Given the description of an element on the screen output the (x, y) to click on. 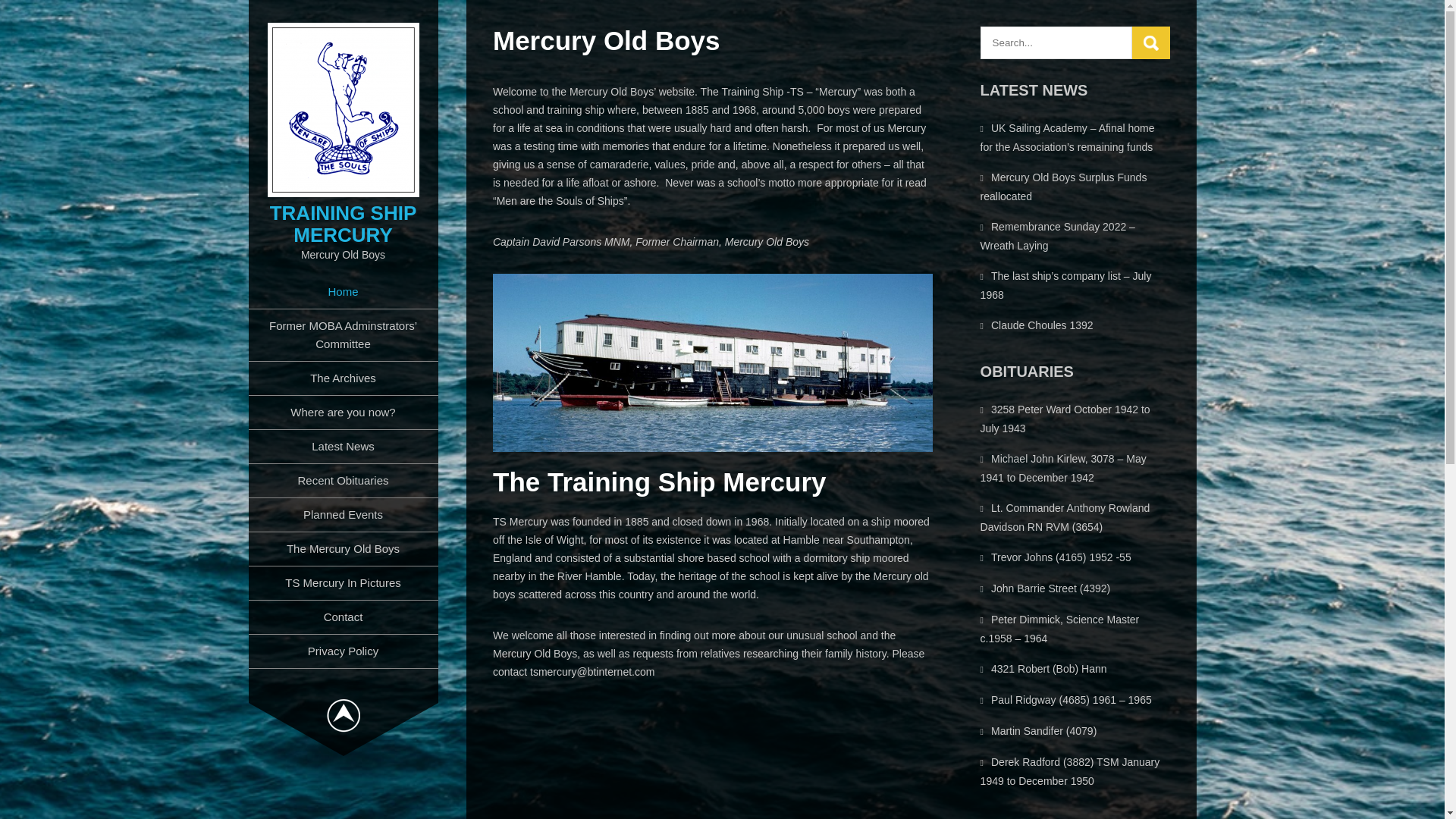
Search (1151, 42)
Contact (343, 616)
Search (1151, 42)
Privacy Policy (343, 651)
3258 Peter Ward October 1942 to July 1943 (1064, 418)
Planned Events (343, 514)
The Mercury Old Boys (343, 548)
The Archives (343, 377)
3258 Peter Ward October 1942 to July 1943 (1064, 418)
Mercury Old Boys Surplus Funds reallocated (1063, 186)
TS Mercury In Pictures (343, 582)
Mercury Old Boys Surplus Funds reallocated (1063, 186)
TRAINING SHIP MERCURY (342, 223)
Latest News (343, 446)
Claude Choules 1392 (1042, 325)
